Given the description of an element on the screen output the (x, y) to click on. 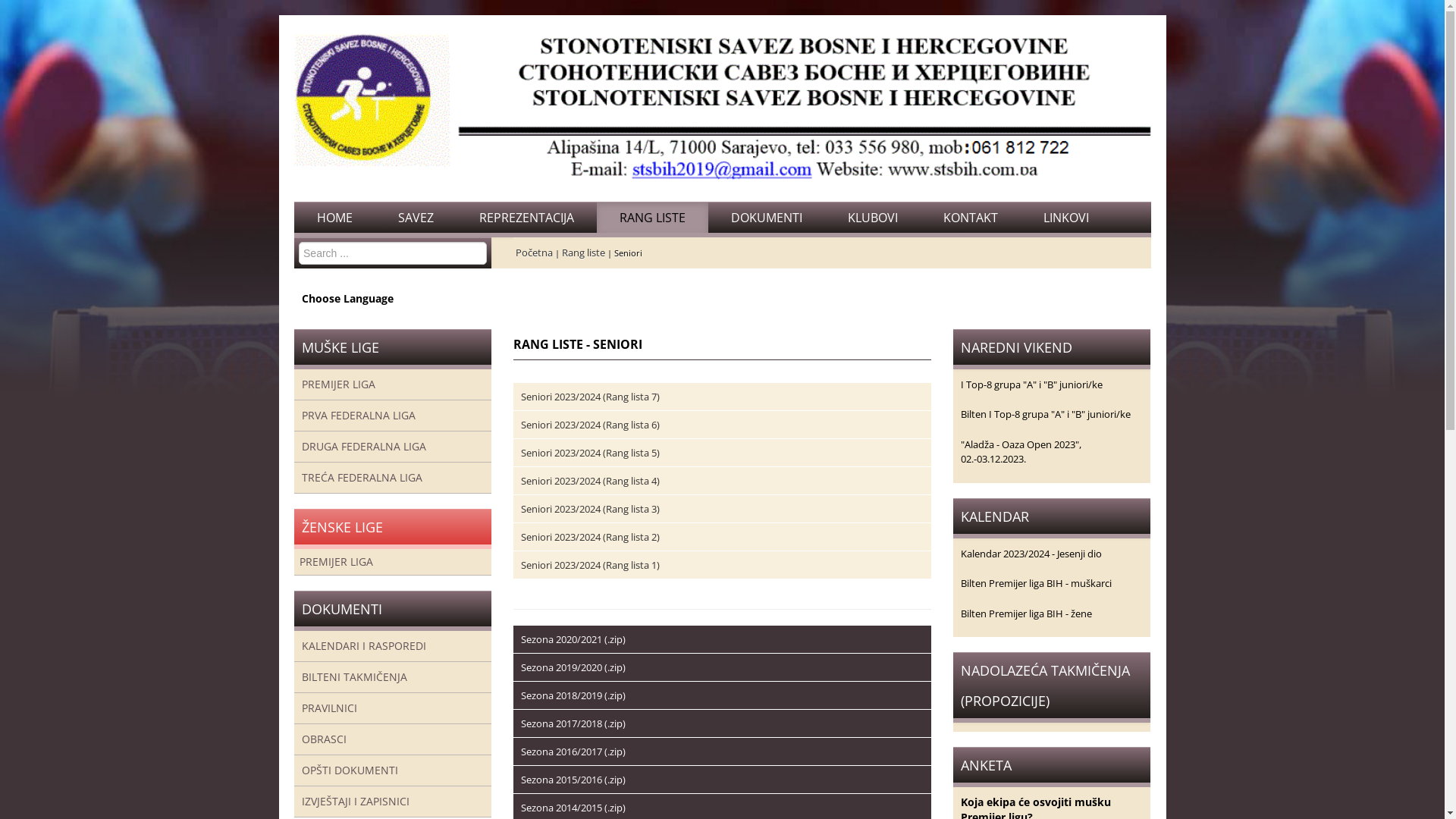
PRAVILNICI Element type: text (393, 708)
Rang liste Element type: text (583, 252)
KONTAKT Element type: text (970, 217)
Seniori 2023/2024 (Rang lista 5) Element type: text (589, 452)
Sezona 2016/2017 (.zip) Element type: text (572, 751)
KLUBOVI Element type: text (872, 217)
PRVA FEDERALNA LIGA Element type: text (393, 415)
KALENDARI I RASPOREDI Element type: text (393, 645)
OBRASCI Element type: text (393, 739)
DOKUMENTI Element type: text (766, 217)
Sezona 2014/2015 (.zip) Element type: text (572, 807)
PREMIJER LIGA Element type: text (393, 561)
Kalendar 2023/2024 - Jesenji dio Element type: text (1030, 553)
Sezona 2015/2016 (.zip) Element type: text (572, 779)
LINKOVI Element type: text (1065, 217)
SAVEZ Element type: text (414, 217)
REPREZENTACIJA Element type: text (526, 217)
PREMIJER LIGA Element type: text (393, 384)
Seniori 2023/2024 (Rang lista 3) Element type: text (589, 508)
RANG LISTE Element type: text (651, 217)
Sezona 2017/2018 (.zip) Element type: text (572, 723)
DRUGA FEDERALNA LIGA Element type: text (393, 446)
Seniori 2023/2024 (Rang lista 6) Element type: text (589, 424)
I Top-8 grupa "A" i "B" juniori/ke Element type: text (1031, 384)
Bilten I Top-8 grupa "A" i "B" juniori/ke Element type: text (1045, 413)
Sezona 2019/2020 (.zip) Element type: text (572, 667)
Seniori 2023/2024 (Rang lista 1) Element type: text (589, 564)
Seniori 2023/2024 (Rang lista 4) Element type: text (589, 480)
Sezona 2020/2021 (.zip) Element type: text (572, 639)
Seniori 2023/2024 (Rang lista 2) Element type: text (589, 536)
Seniori 2023/2024 (Rang lista 7) Element type: text (589, 396)
Sezona 2018/2019 (.zip) Element type: text (572, 695)
HOME Element type: text (334, 217)
